Given the description of an element on the screen output the (x, y) to click on. 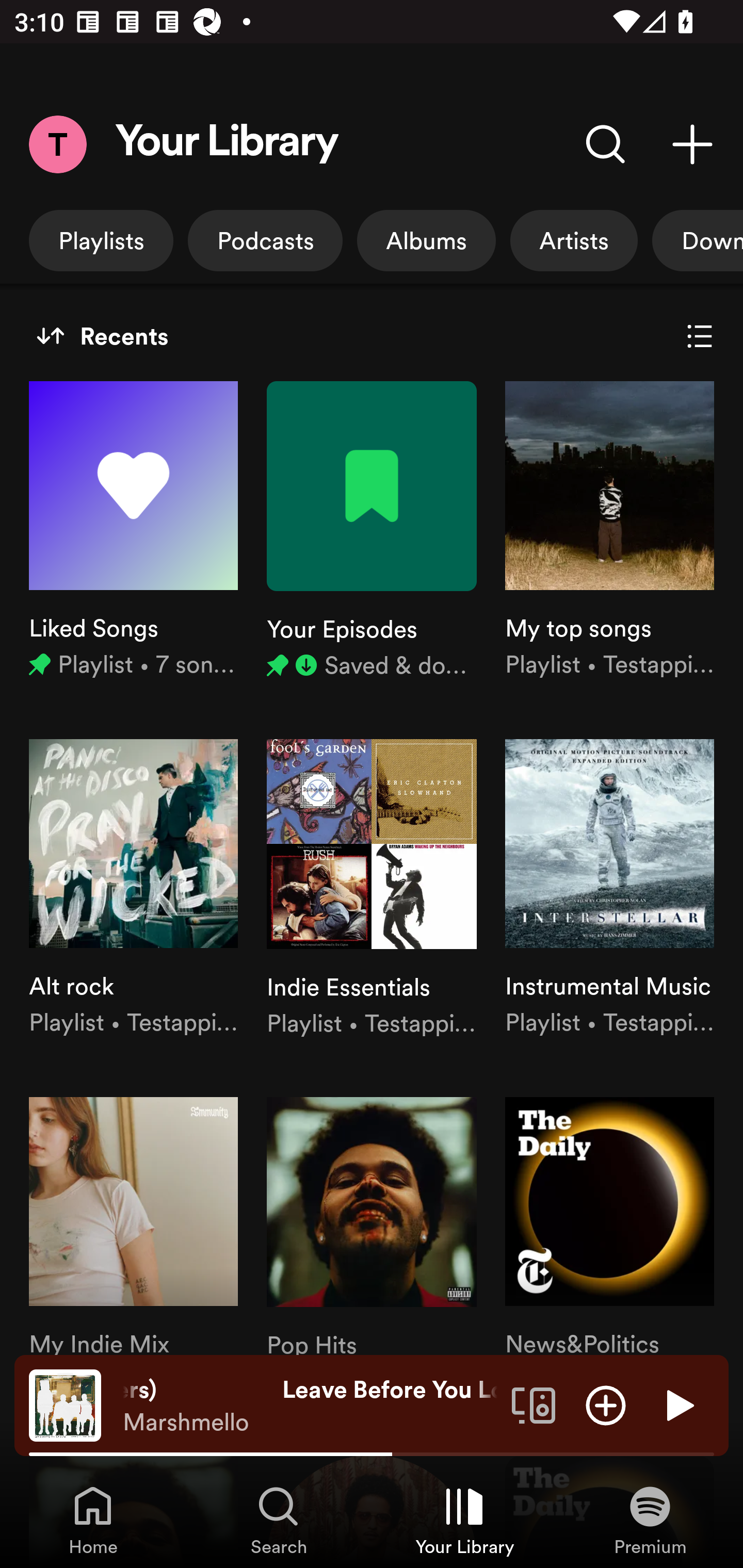
Menu (57, 144)
Search Your Library (605, 144)
Create playlist (692, 144)
Your Library Your Library Heading (226, 144)
Playlists, show only playlists. (100, 240)
Podcasts, show only podcasts. (264, 240)
Albums, show only albums. (426, 240)
Artists, show only artists. (573, 240)
Downloaded, show only downloaded. (697, 240)
Recents (101, 336)
Show List view (699, 336)
